Given the description of an element on the screen output the (x, y) to click on. 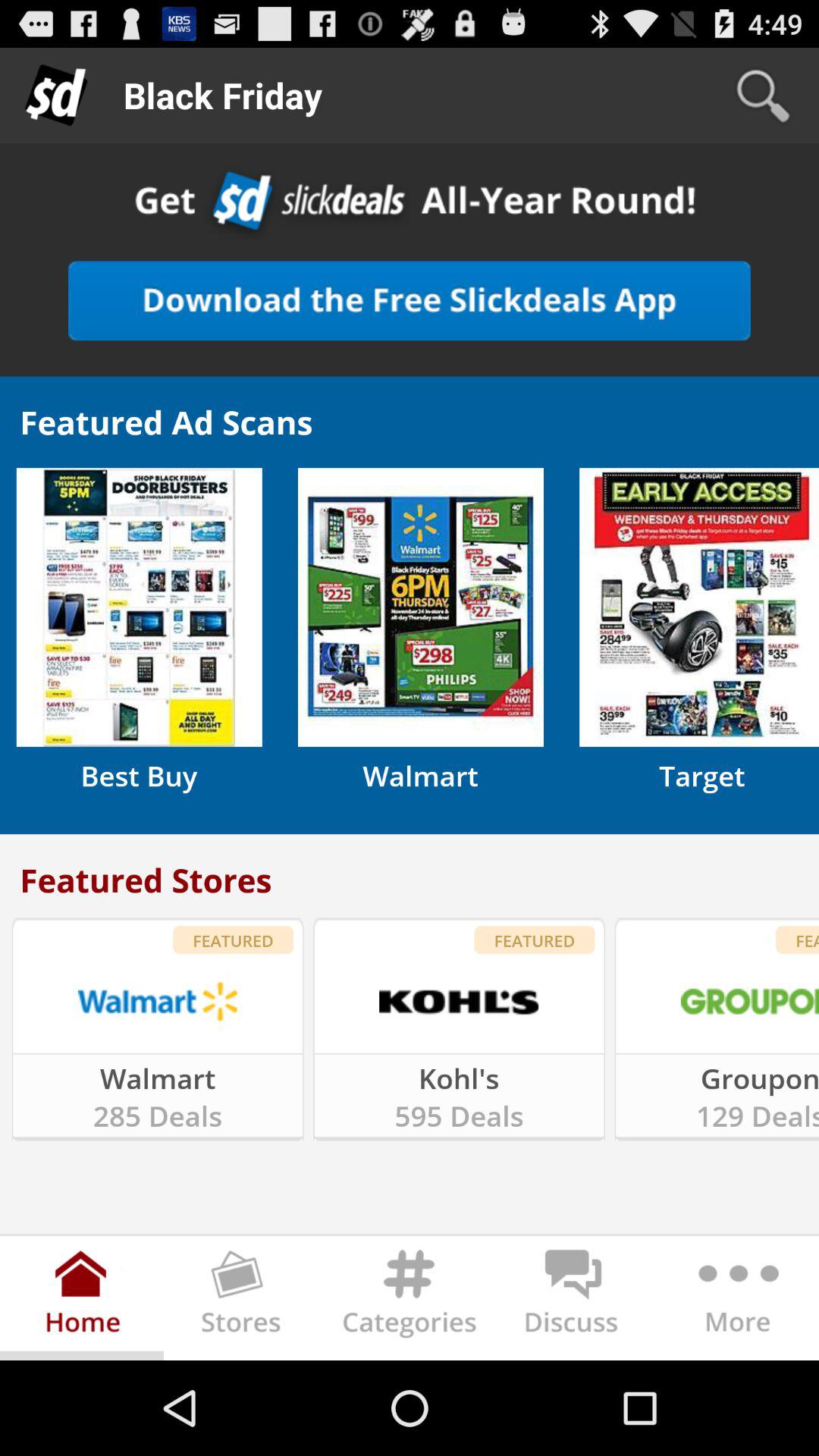
home (81, 1301)
